Given the description of an element on the screen output the (x, y) to click on. 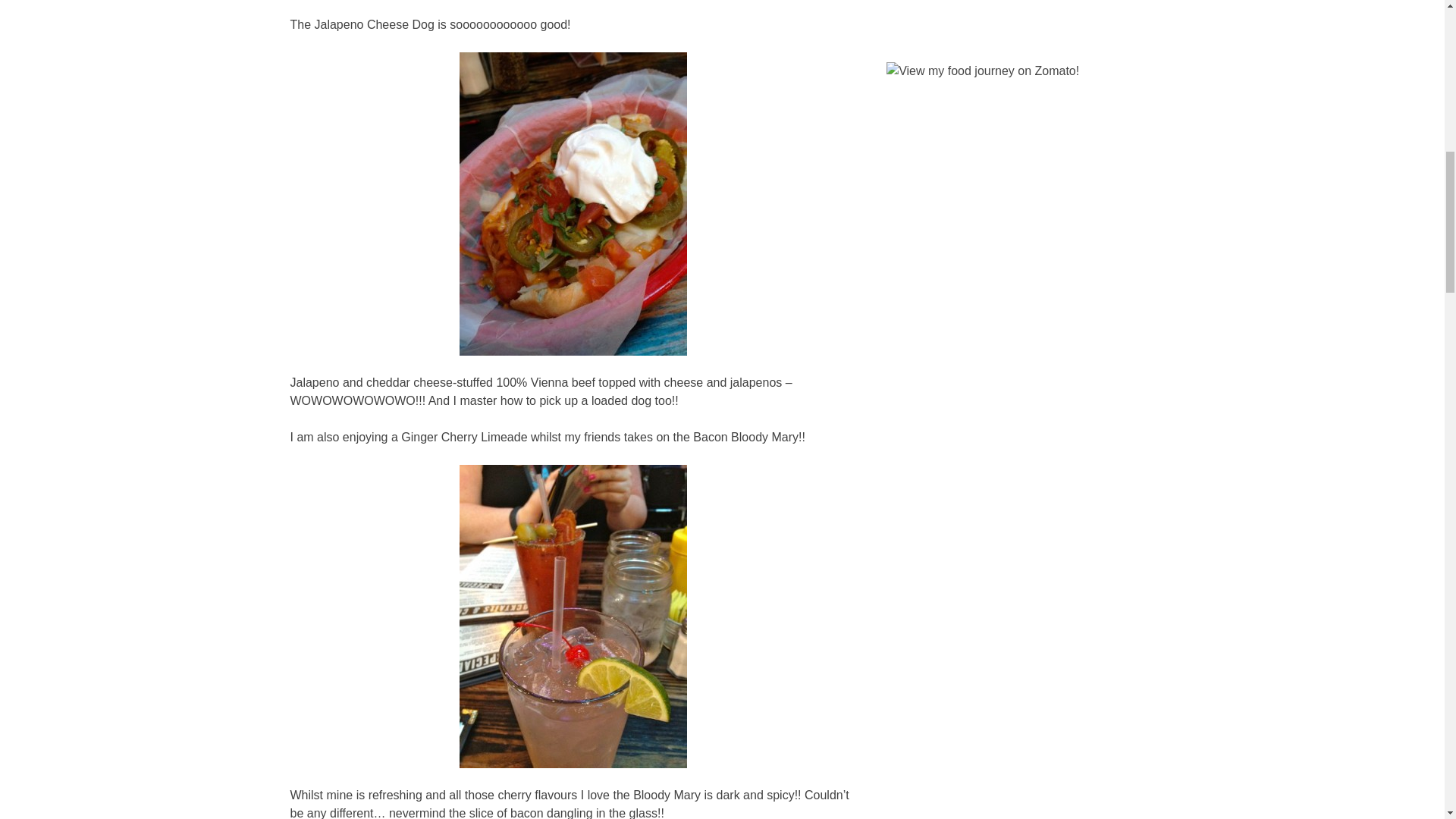
View FoodieAboutTown's food journey on Zomato! (982, 69)
